Given the description of an element on the screen output the (x, y) to click on. 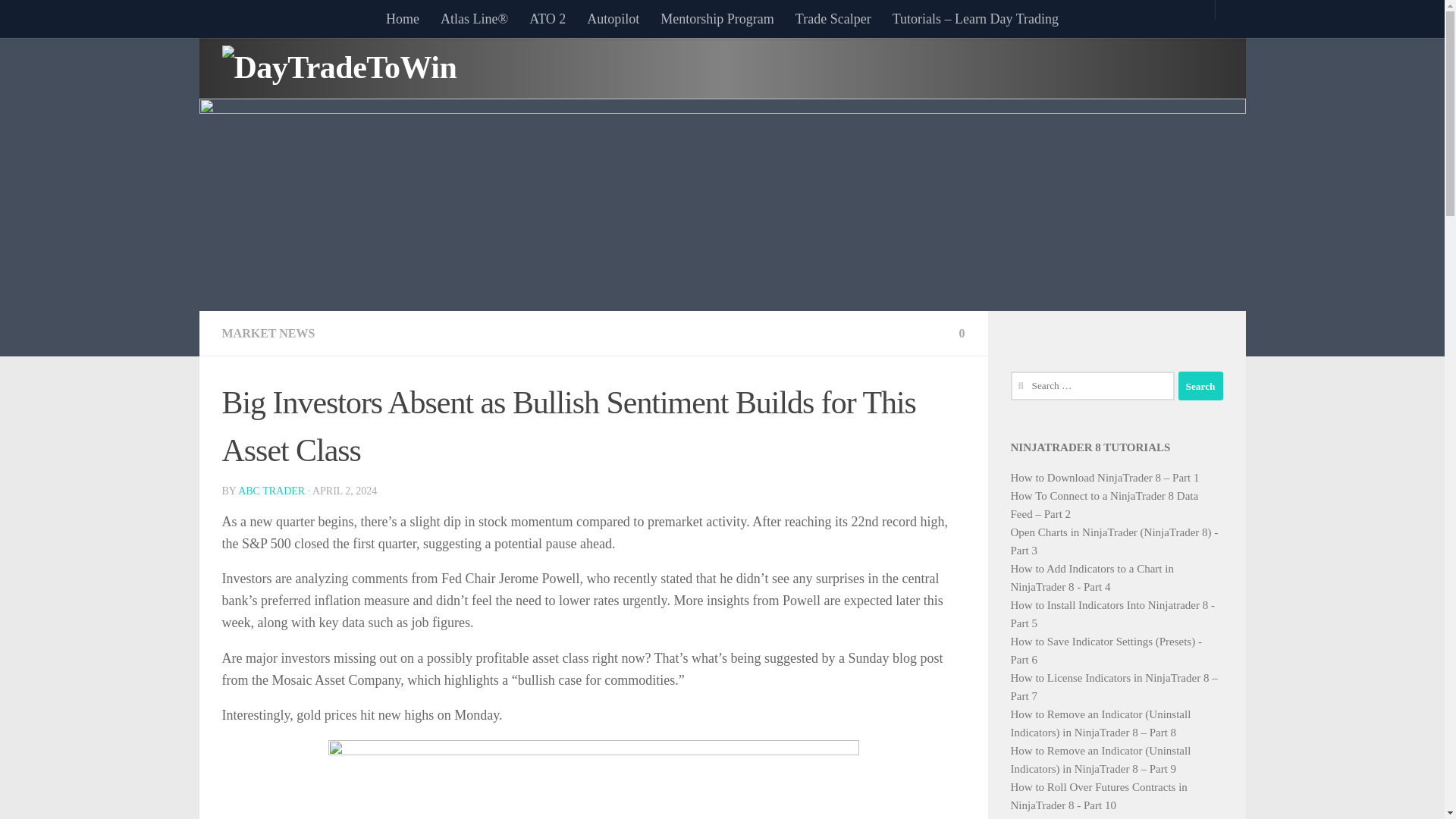
Search (1200, 385)
0 (957, 332)
MARKET NEWS (267, 332)
ABC TRADER (271, 490)
Autopilot (612, 18)
Trade Scalper (833, 18)
Posts by ABC Trader (271, 490)
Skip to content (59, 20)
Home (402, 18)
Search (1200, 385)
